Given the description of an element on the screen output the (x, y) to click on. 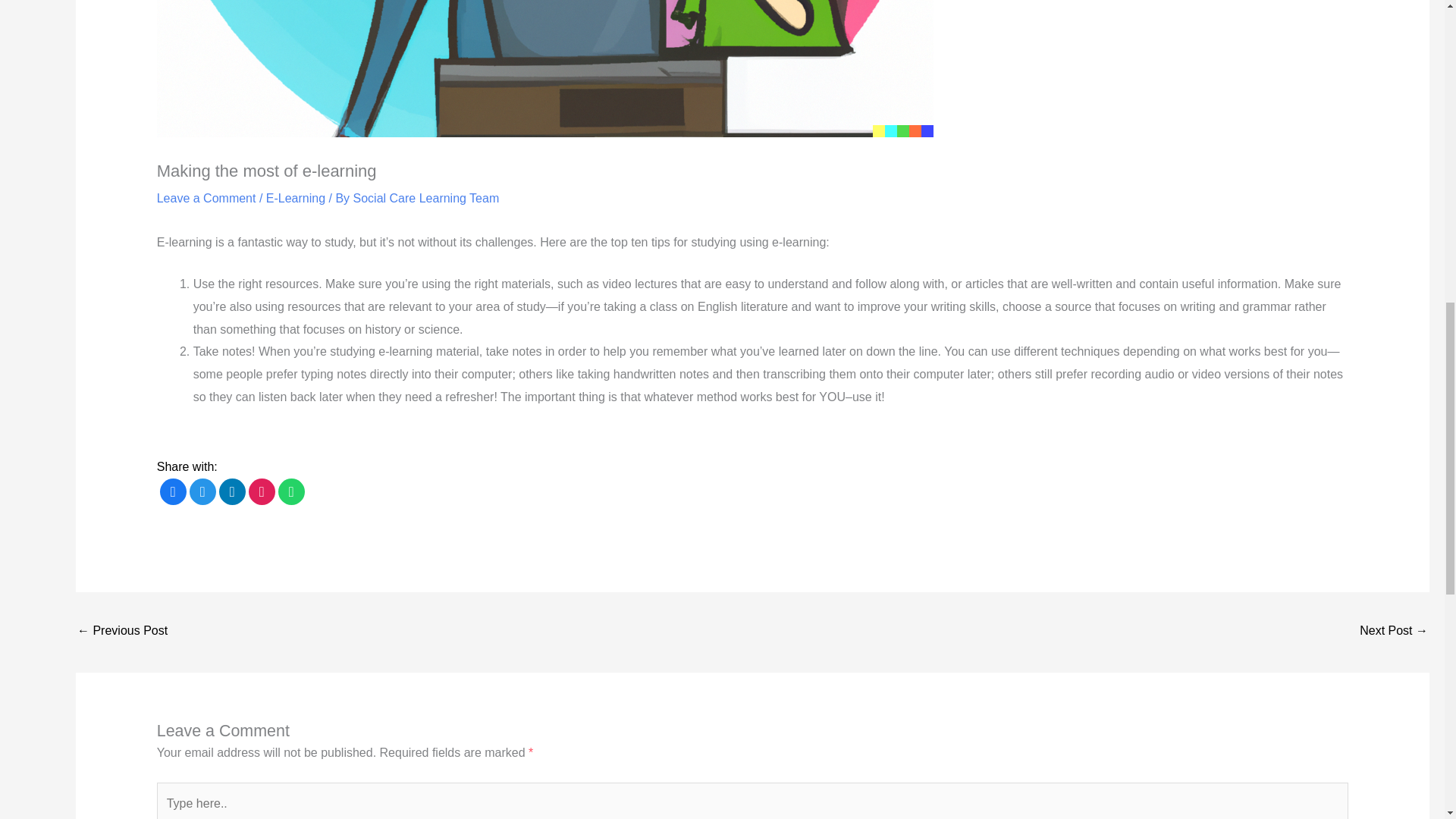
whatsapp (291, 492)
facebook (173, 492)
Are you ready for winter weather in your home care business? (1393, 632)
linkedin (232, 492)
How to Get the Most from Your eLearning for Care (122, 632)
print (261, 492)
View all posts by Social Care Learning Team (426, 197)
twitter (202, 492)
